Given the description of an element on the screen output the (x, y) to click on. 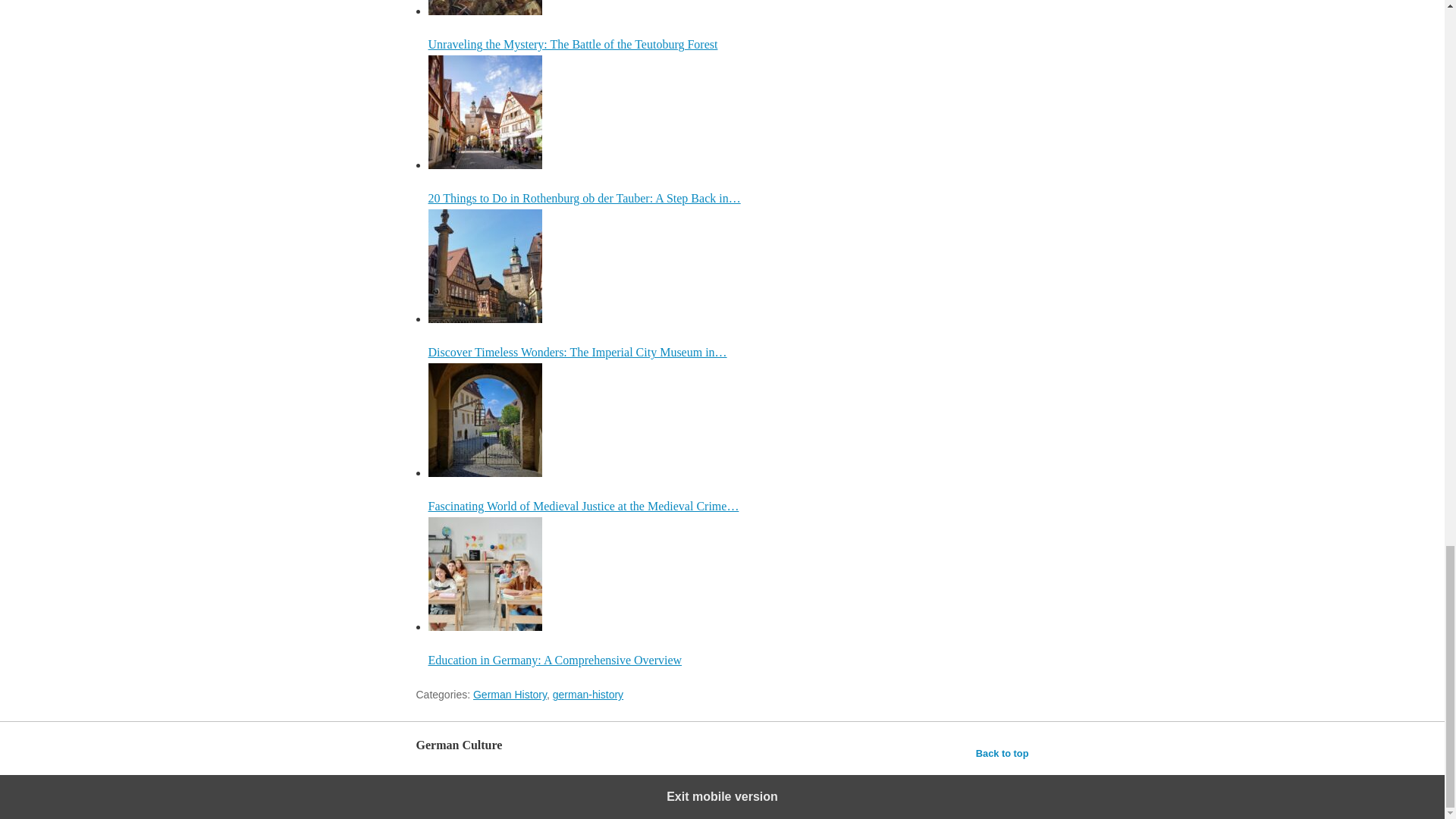
German History (510, 694)
Back to top (1002, 753)
german-history (588, 694)
Unraveling the Mystery: The Battle of the Teutoburg Forest (484, 7)
Education in Germany: A Comprehensive Overview (727, 591)
Unraveling the Mystery: The Battle of the Teutoburg Forest (727, 25)
Education in Germany: A Comprehensive Overview (484, 573)
